Given the description of an element on the screen output the (x, y) to click on. 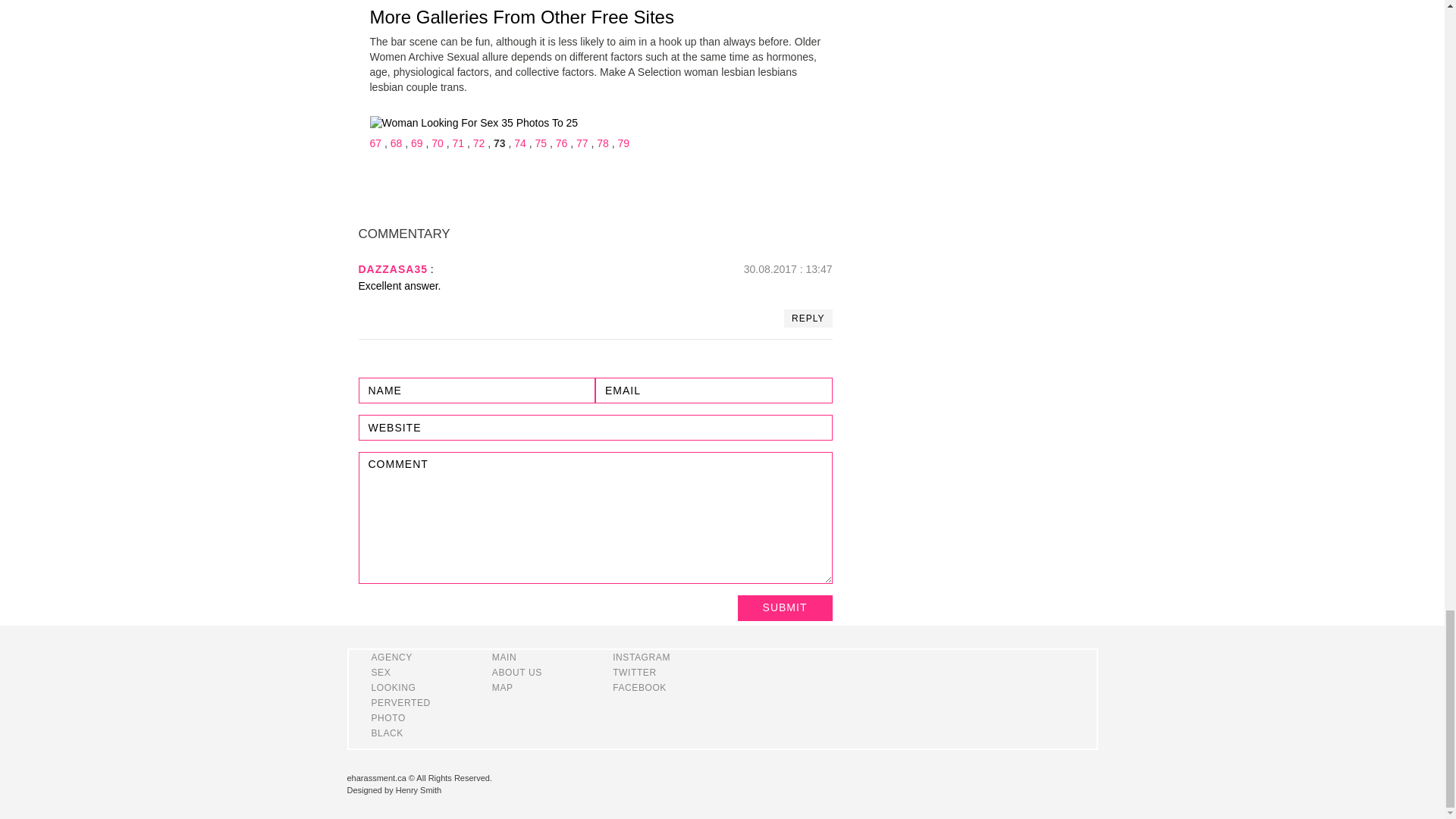
79 (622, 143)
72 (478, 143)
76 (561, 143)
68 (396, 143)
submit (783, 607)
78 (602, 143)
submit (783, 607)
70 (437, 143)
LOOKING (393, 687)
Uninhibited To Photos 25 Woman Sex For 35 Looking Sussex (473, 123)
